Given the description of an element on the screen output the (x, y) to click on. 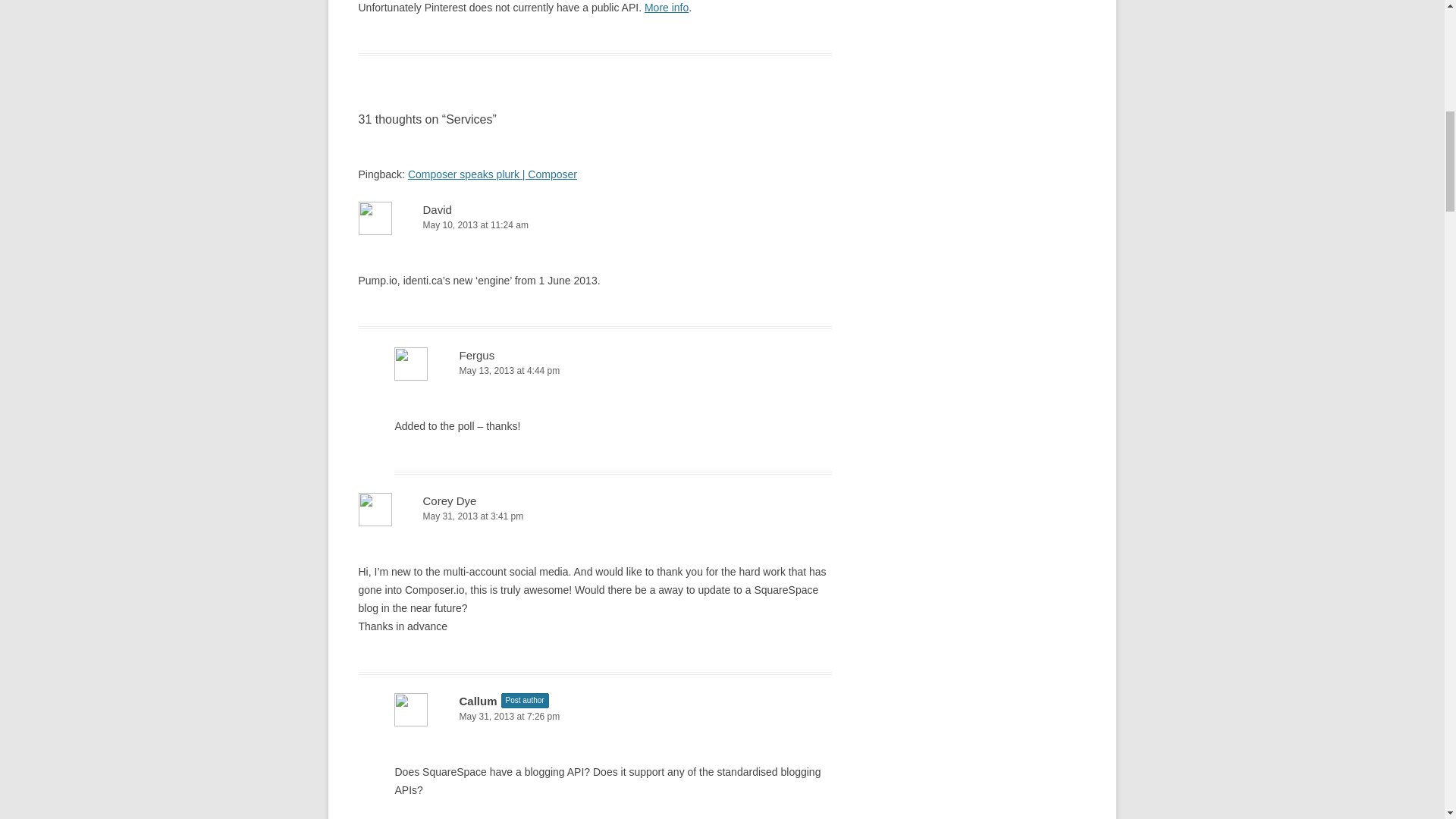
May 31, 2013 at 3:41 pm (594, 516)
Callum (477, 700)
Fergus (476, 354)
May 10, 2013 at 11:24 am (594, 225)
May 13, 2013 at 4:44 pm (612, 371)
May 31, 2013 at 7:26 pm (612, 716)
More info (666, 7)
